Given the description of an element on the screen output the (x, y) to click on. 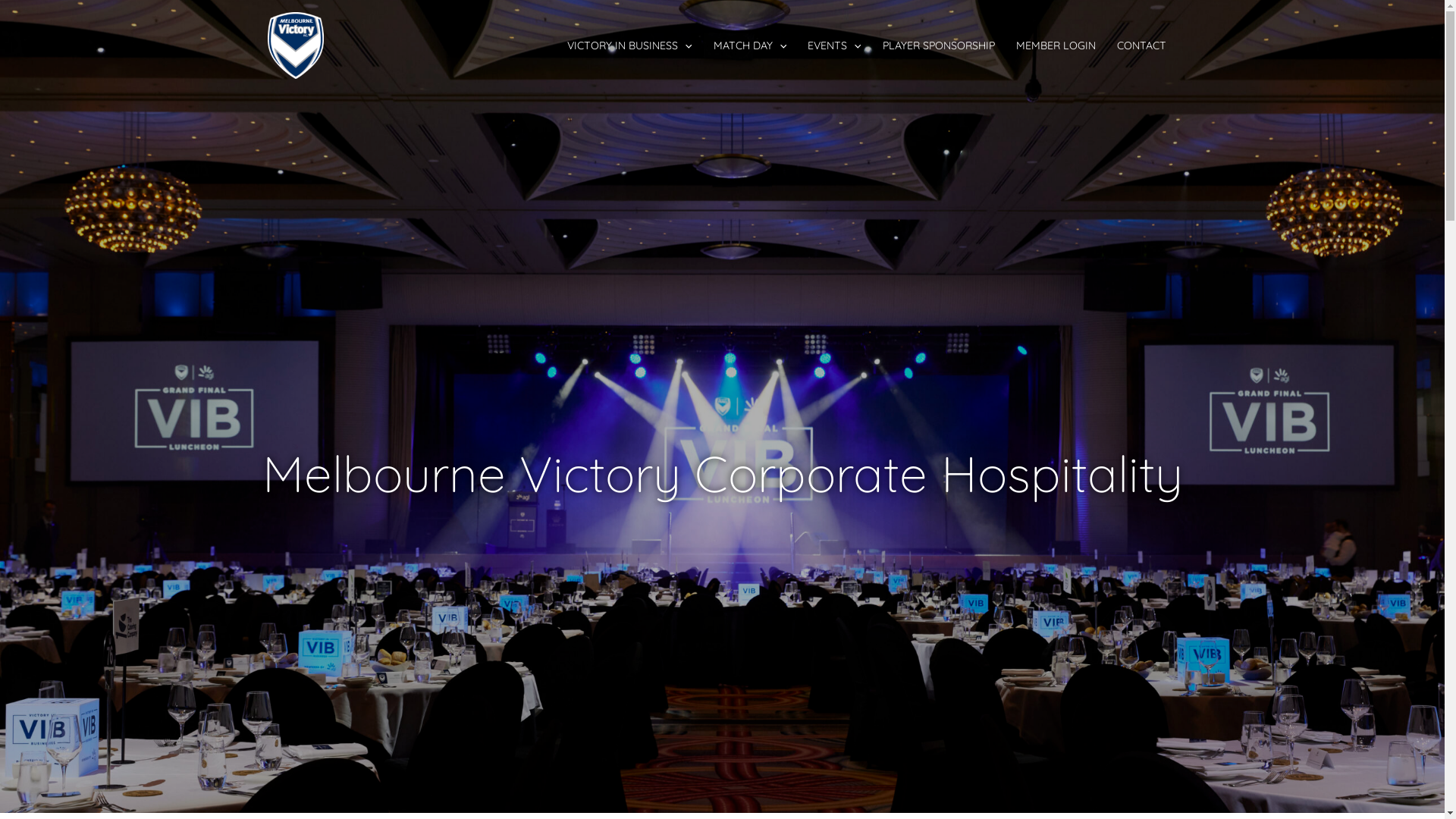
EVENTS Element type: text (834, 45)
MATCH DAY Element type: text (749, 45)
MEMBER LOGIN Element type: text (1055, 45)
PLAYER SPONSORSHIP Element type: text (938, 45)
VICTORY IN BUSINESS Element type: text (629, 45)
CONTACT Element type: text (1141, 45)
